Given the description of an element on the screen output the (x, y) to click on. 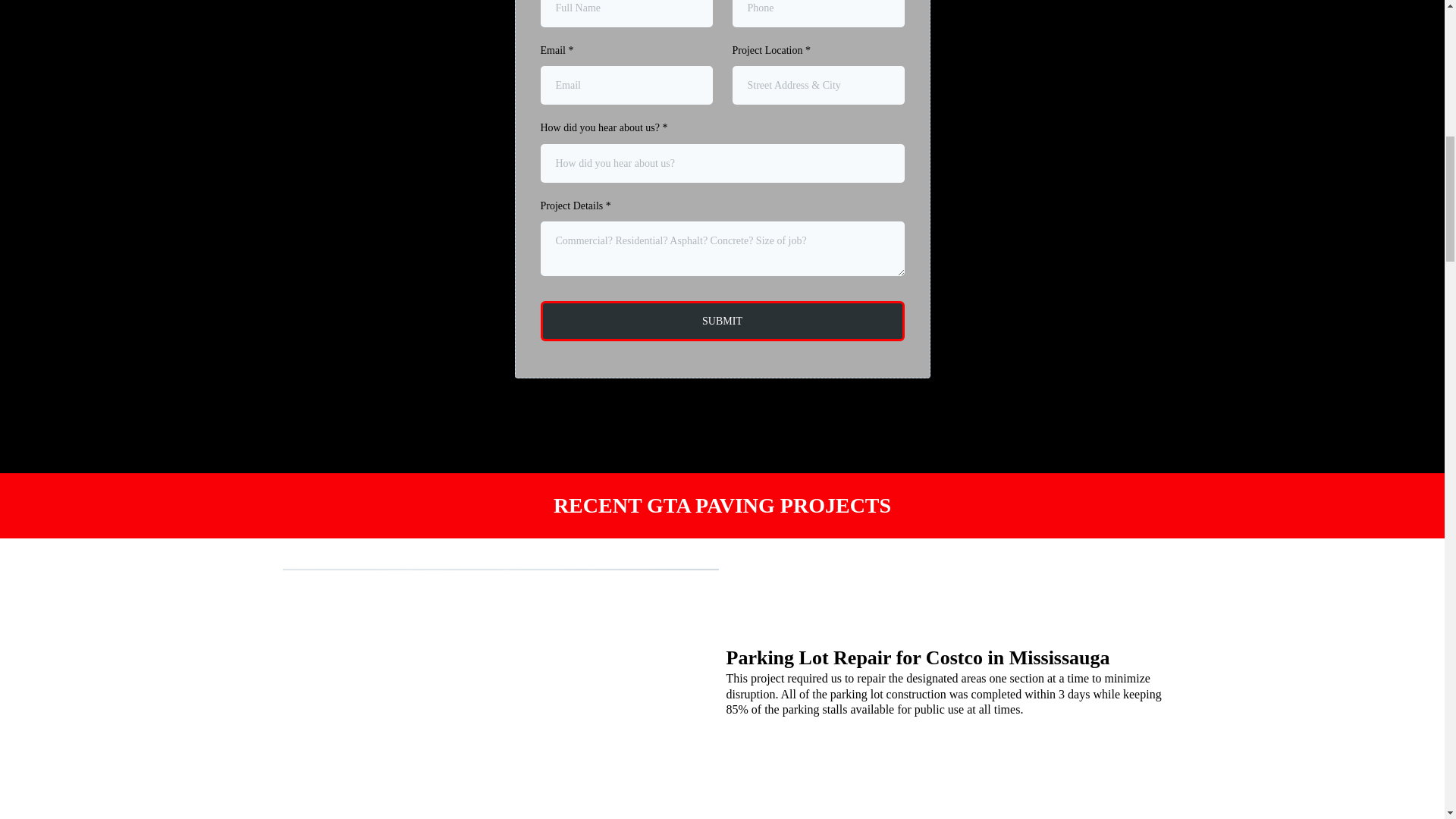
SUBMIT (722, 321)
